Given the description of an element on the screen output the (x, y) to click on. 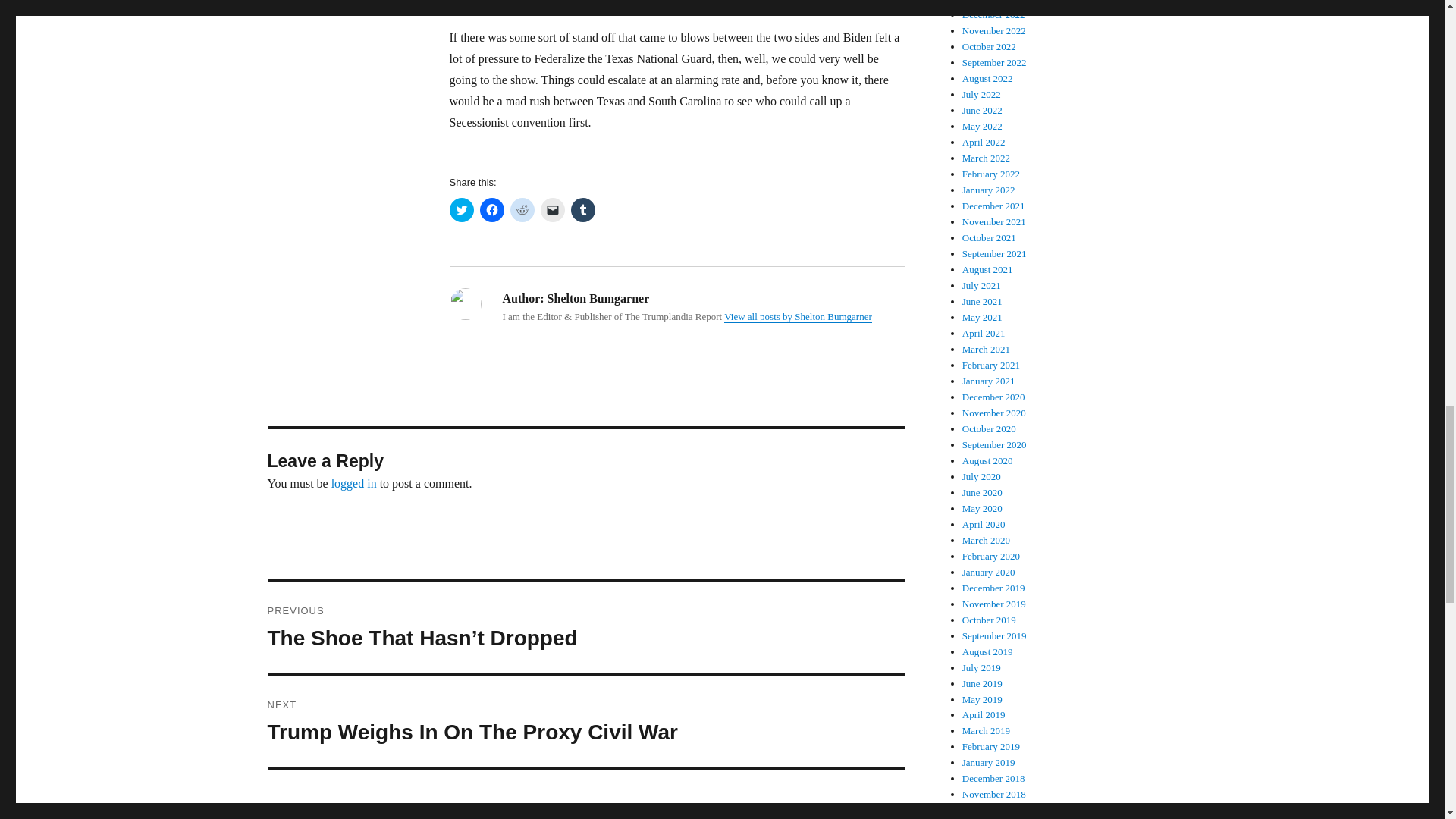
Click to email a link to a friend (552, 209)
Click to share on Twitter (460, 209)
Click to share on Facebook (491, 209)
logged in (354, 482)
View all posts by Shelton Bumgarner (797, 316)
Click to share on Reddit (585, 721)
Click to share on Tumblr (521, 209)
